Given the description of an element on the screen output the (x, y) to click on. 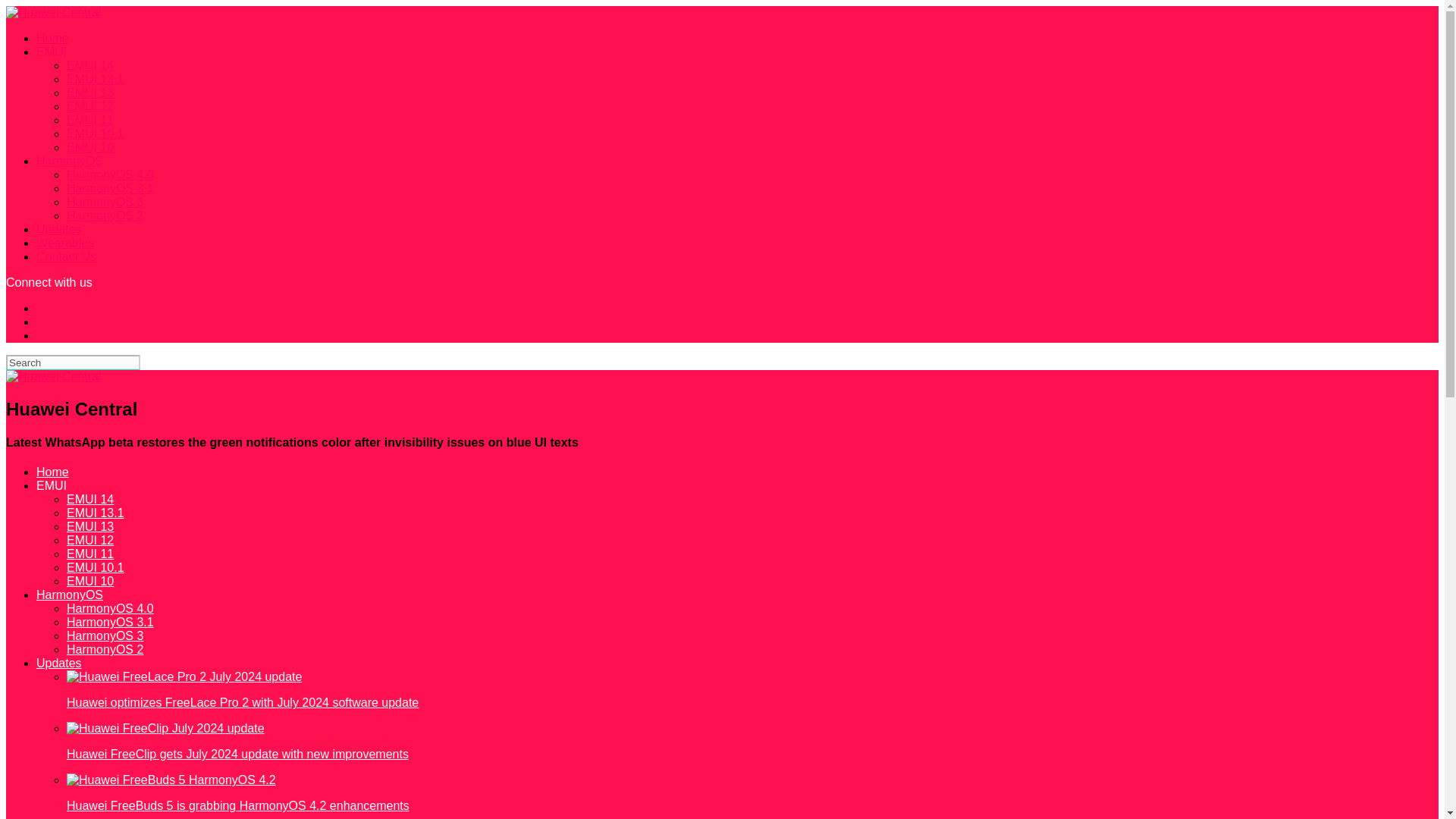
EMUI 10.1 (94, 567)
HarmonyOS 2 (104, 649)
HarmonyOS 3 (104, 635)
Wearables (65, 242)
EMUI 10.1 (94, 133)
HarmonyOS 4.0 (110, 608)
EMUI 11 (89, 119)
EMUI 13 (89, 92)
EMUI (51, 485)
HarmonyOS 3.1 (110, 621)
HarmonyOS (69, 594)
Home (52, 472)
Search (72, 362)
EMUI 13 (89, 526)
HarmonyOS 2 (104, 215)
